Given the description of an element on the screen output the (x, y) to click on. 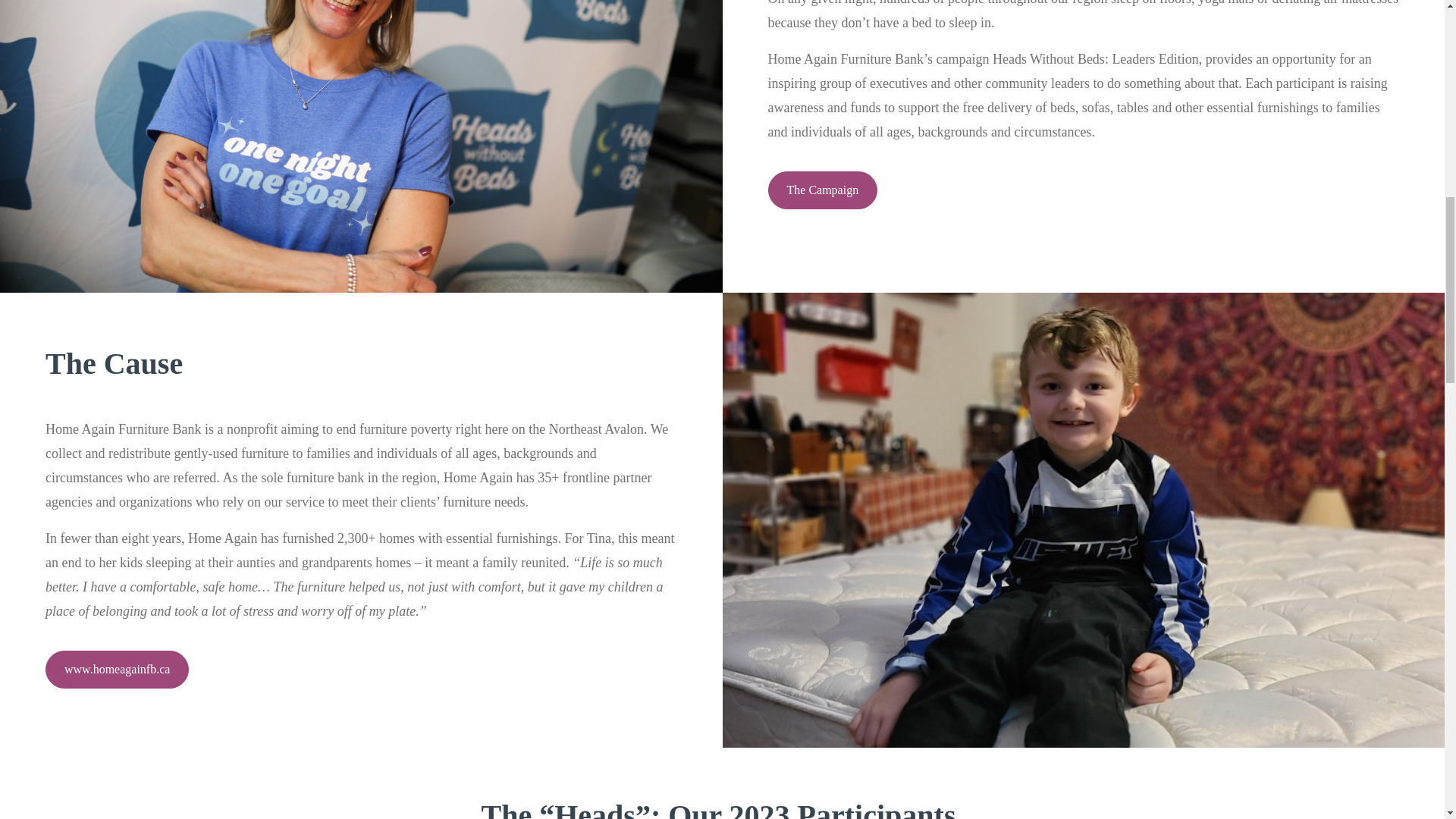
The Campaign (822, 190)
www.homeagainfb.ca (117, 669)
